Given the description of an element on the screen output the (x, y) to click on. 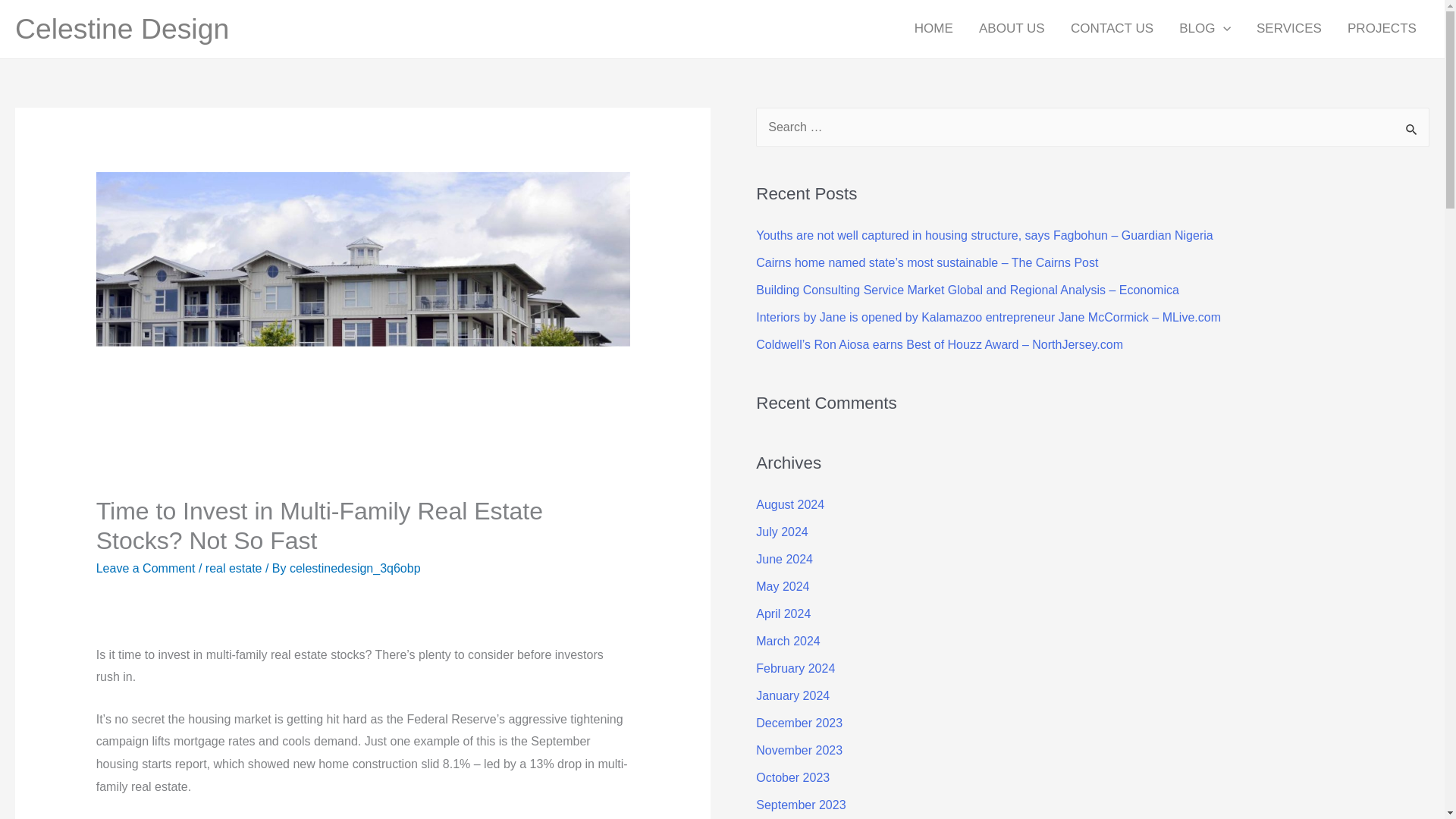
ABOUT US (1012, 28)
CONTACT US (1112, 28)
Celestine Design (121, 29)
Leave a Comment (145, 567)
BLOG (1204, 28)
PROJECTS (1382, 28)
HOME (933, 28)
real estate (233, 567)
SERVICES (1289, 28)
